Given the description of an element on the screen output the (x, y) to click on. 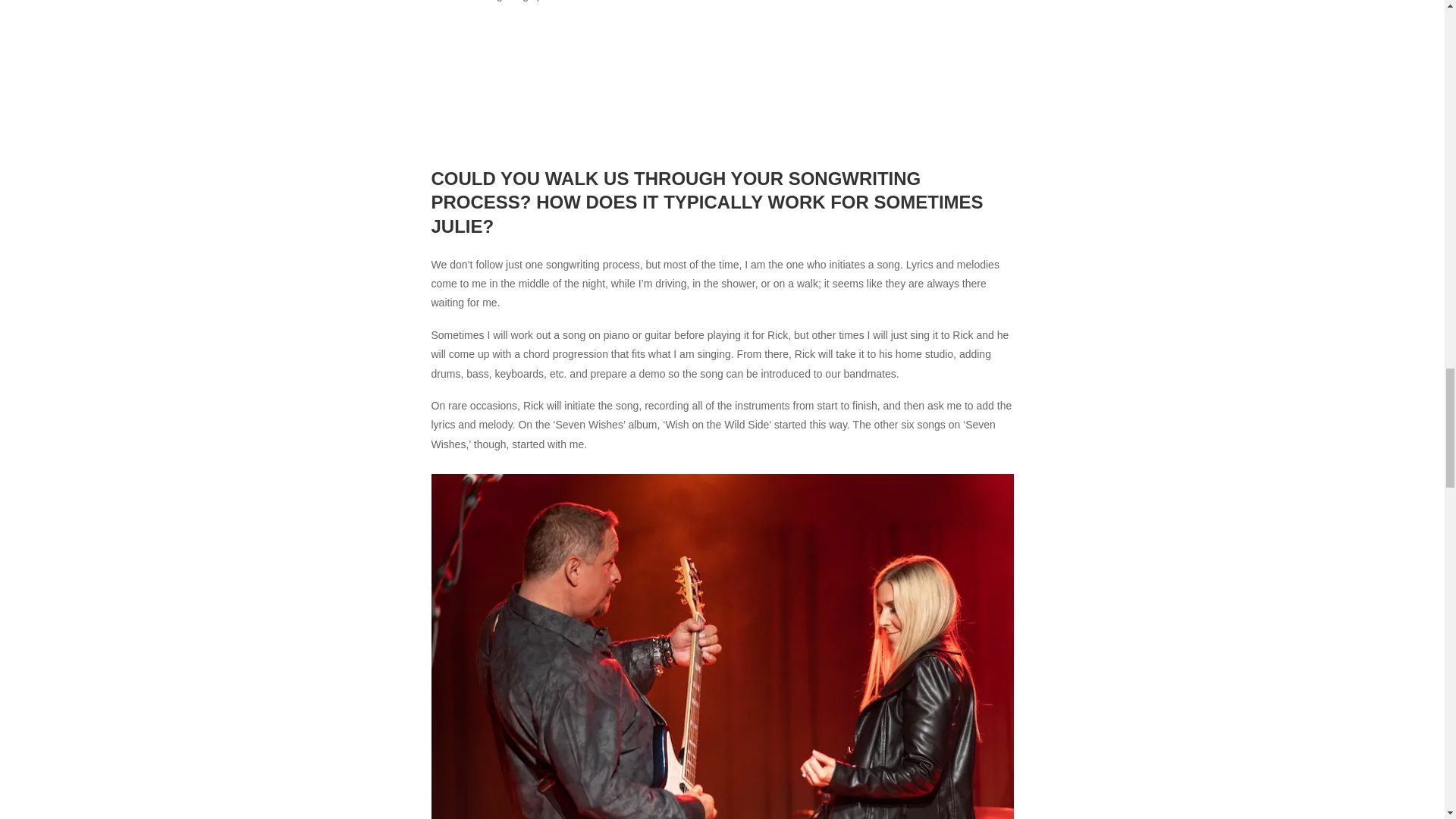
Spotify Embed: Burning to Be Free (721, 82)
